Given the description of an element on the screen output the (x, y) to click on. 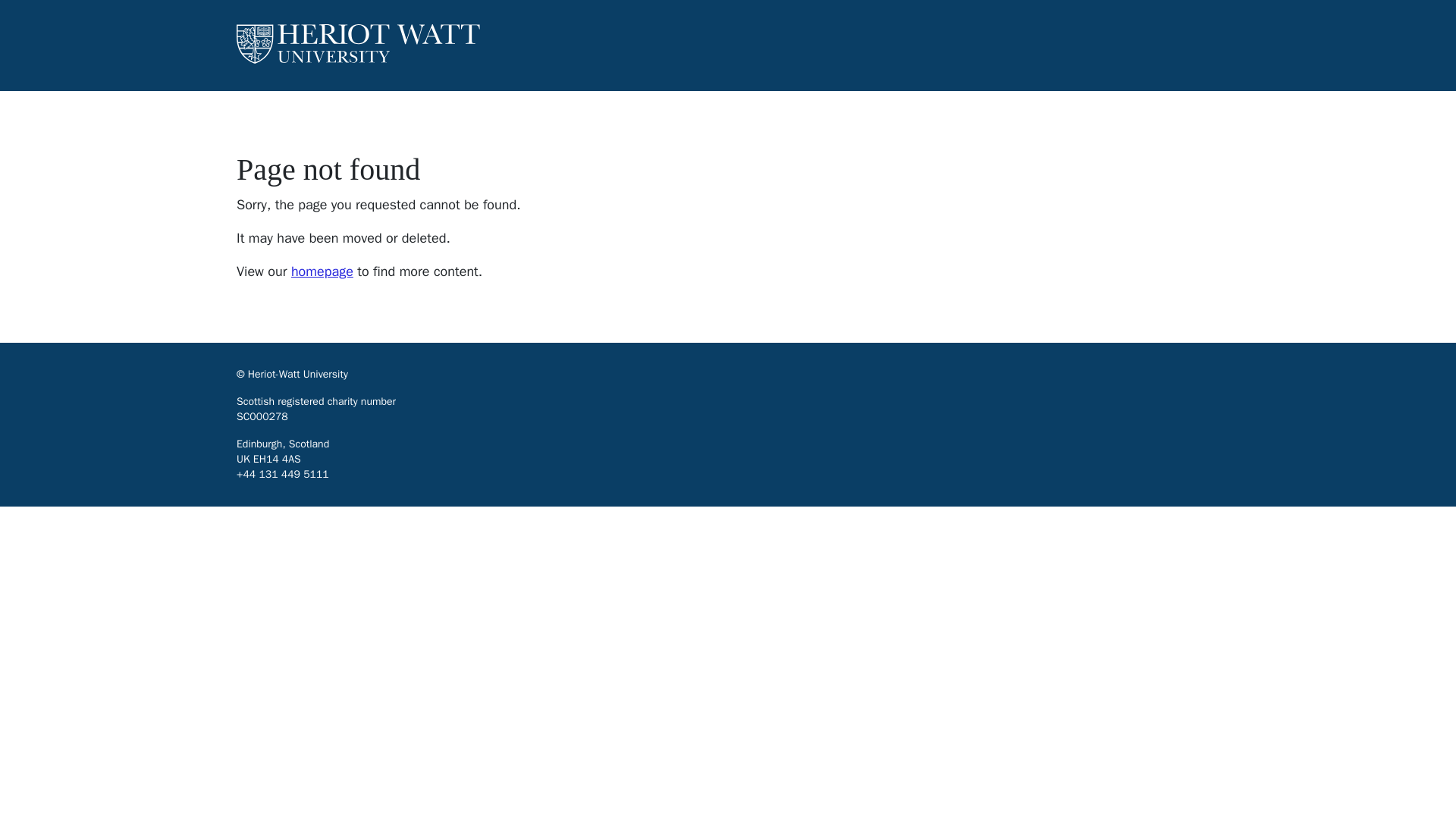
homepage (322, 271)
